Given the description of an element on the screen output the (x, y) to click on. 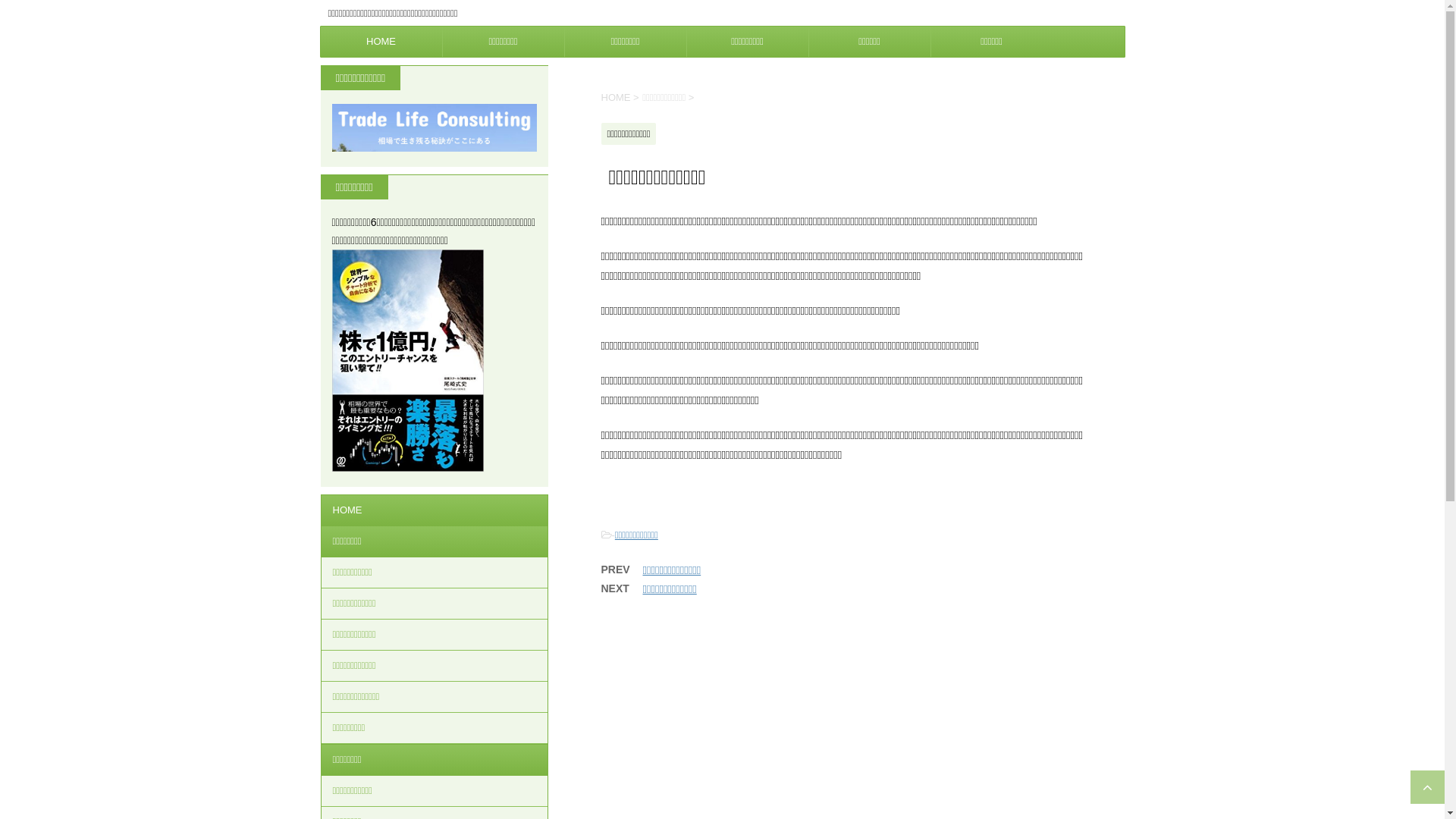
HOME Element type: text (434, 510)
HOME Element type: text (380, 41)
HOME Element type: text (615, 97)
